Given the description of an element on the screen output the (x, y) to click on. 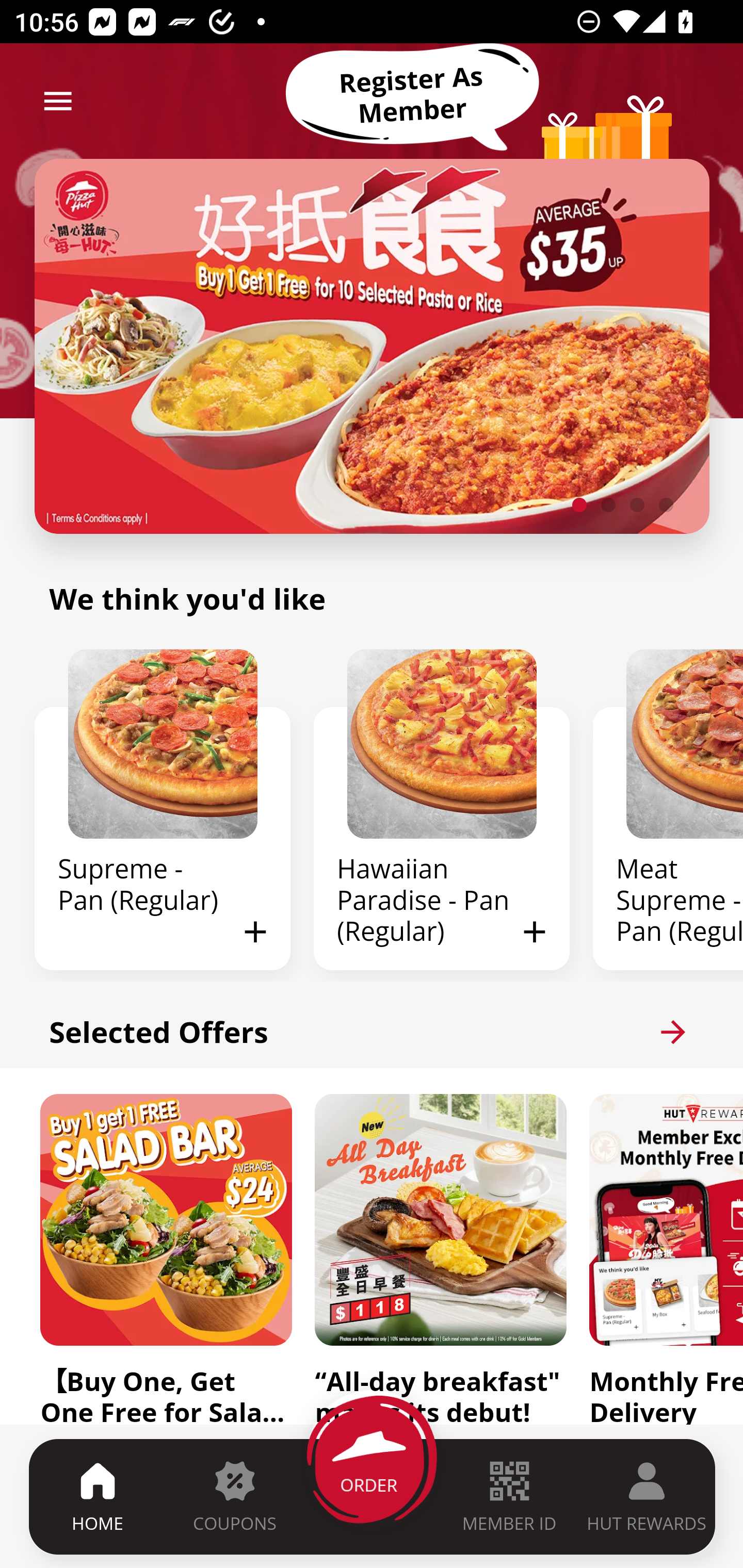
Register As Member (411, 95)
menu (58, 100)
arrow_forward (672, 1031)
HOME (97, 1496)
COUPONS (234, 1496)
ORDER (372, 1496)
MEMBER ID (509, 1496)
HUT REWARDS (647, 1496)
